Given the description of an element on the screen output the (x, y) to click on. 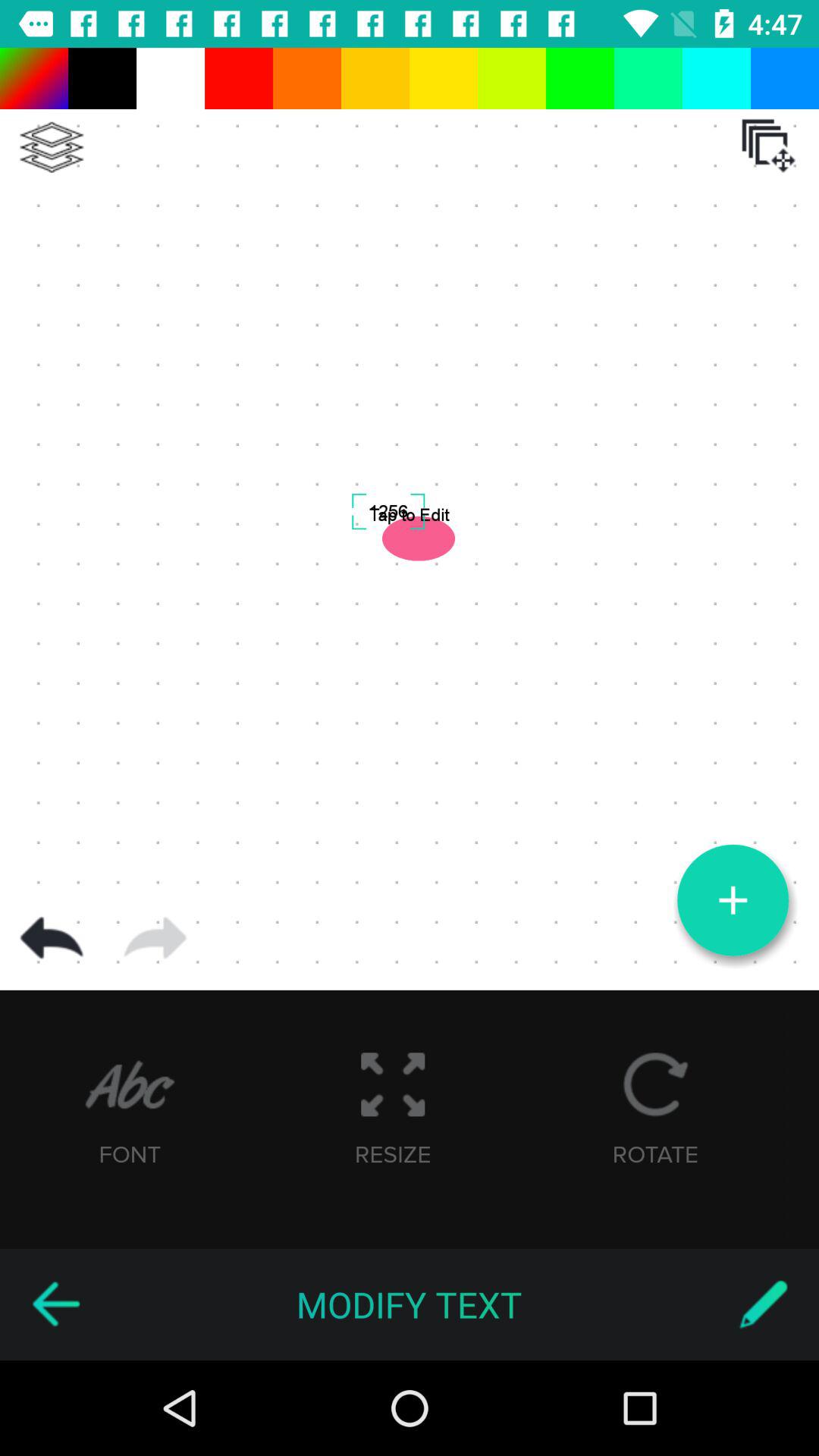
go back (55, 1304)
